Given the description of an element on the screen output the (x, y) to click on. 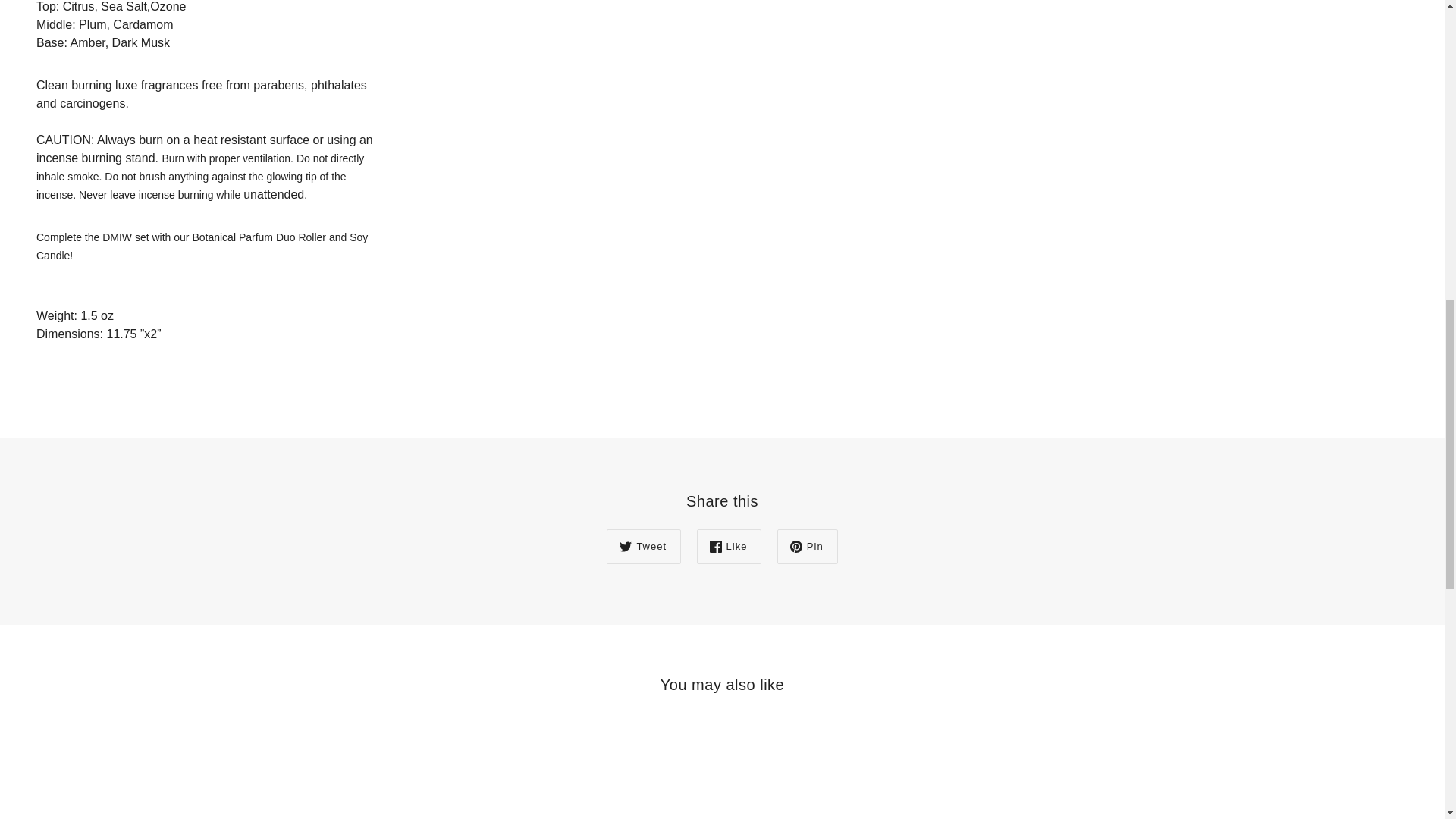
Pin (807, 546)
Like (729, 546)
Tweet (644, 546)
